Given the description of an element on the screen output the (x, y) to click on. 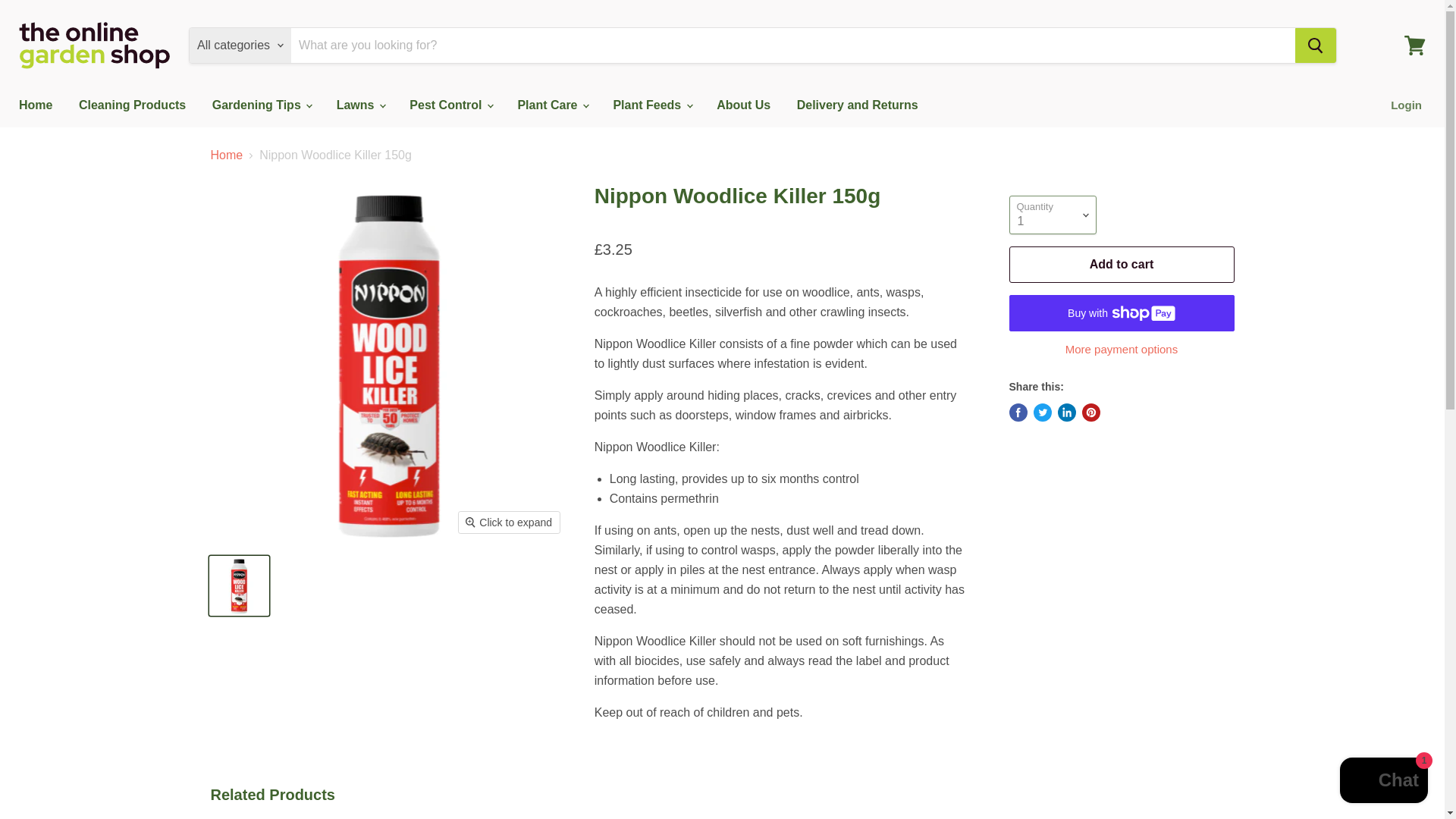
Cleaning Products (131, 105)
Pest Control (449, 105)
Home (35, 105)
Plant Care (551, 105)
Gardening Tips (260, 105)
Lawns (359, 105)
View cart (1414, 45)
Shopify online store chat (1383, 781)
